Given the description of an element on the screen output the (x, y) to click on. 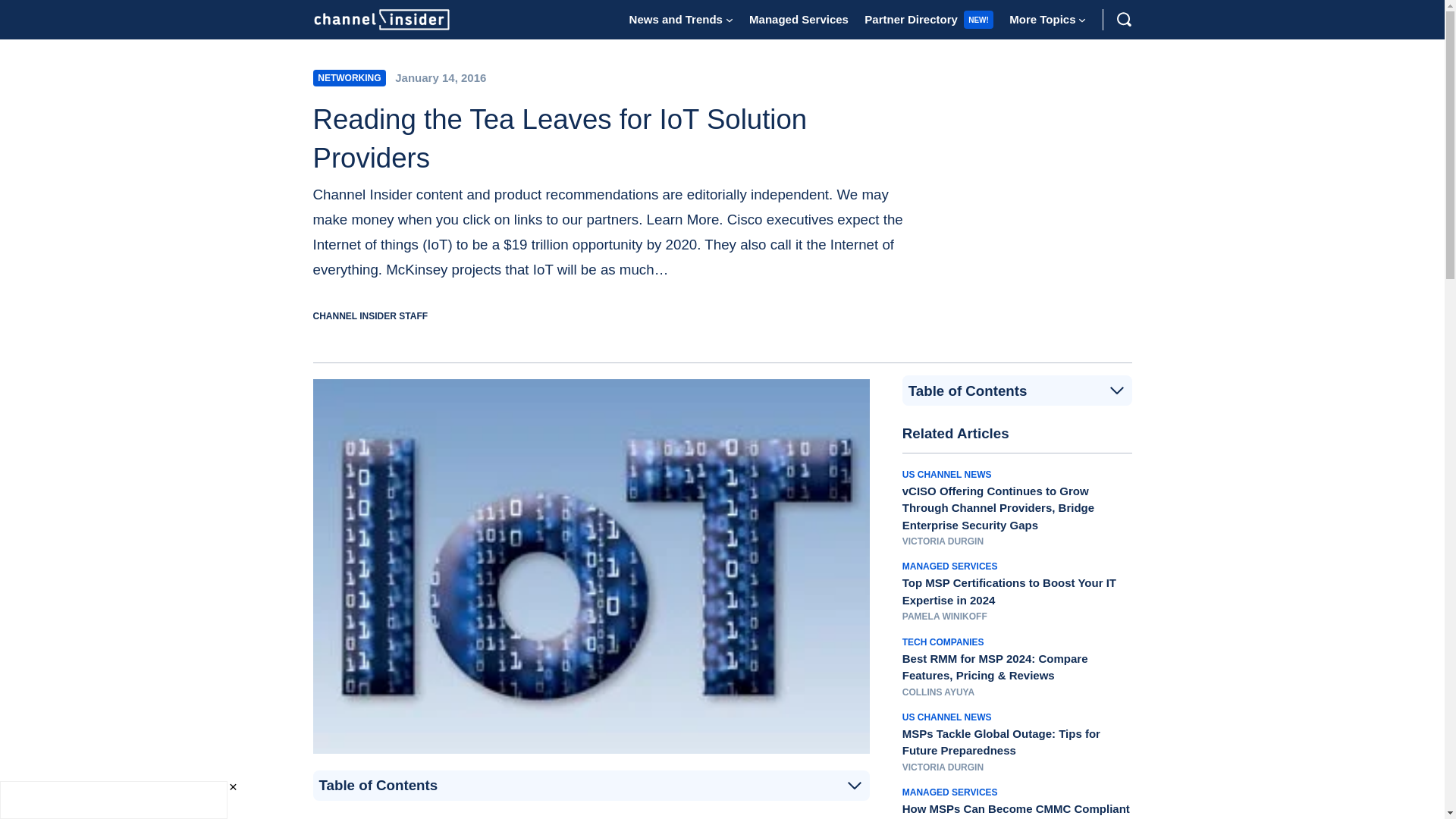
VICTORIA DURGIN (943, 541)
MANAGED SERVICES (949, 566)
NETWORKING (349, 77)
Table of Contents (1017, 390)
Partner Directory (911, 19)
More Topics (1042, 19)
Managed Services (798, 19)
Table of Contents (591, 785)
Table of Contents (1016, 390)
